Given the description of an element on the screen output the (x, y) to click on. 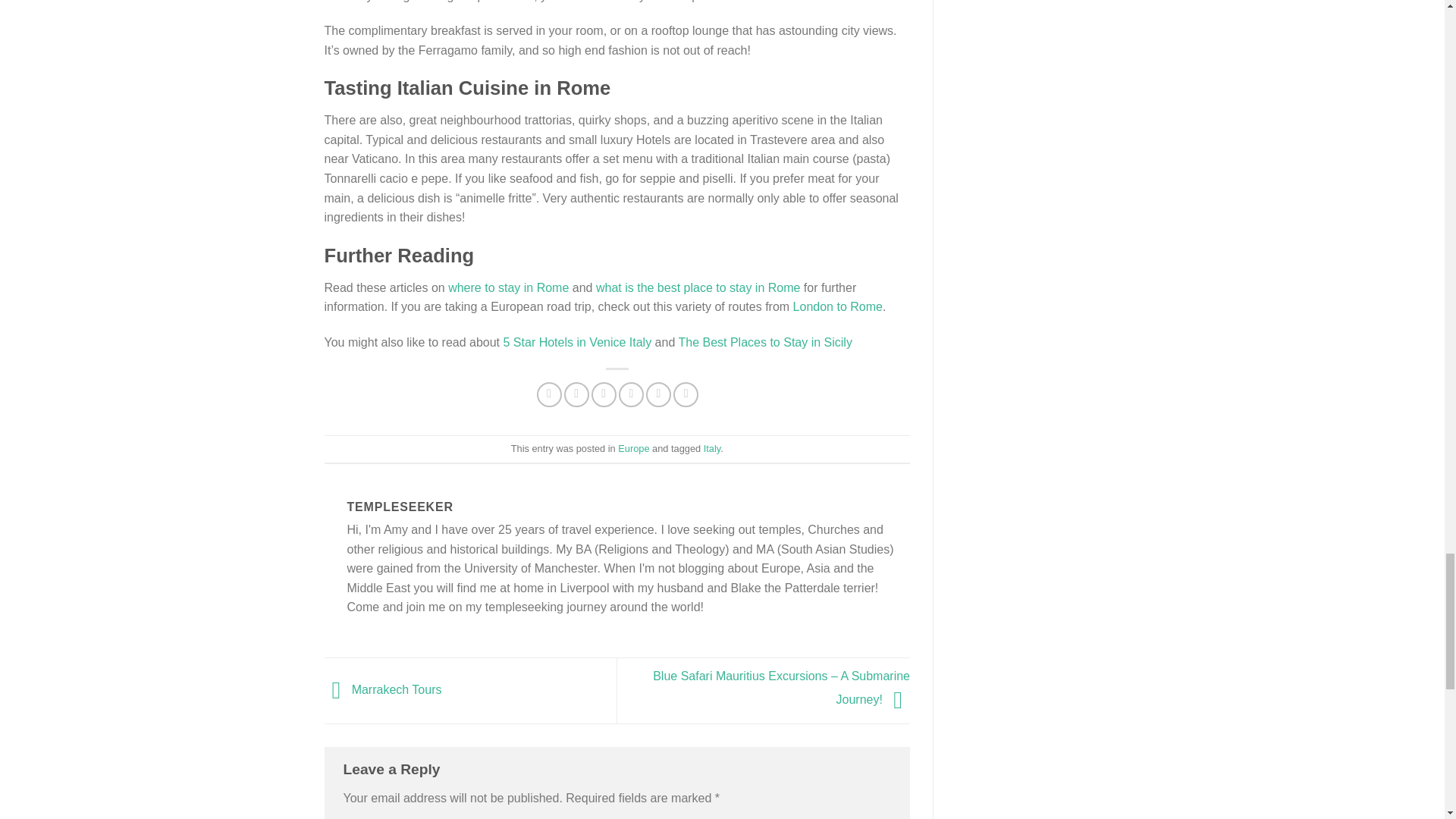
Share on LinkedIn (658, 394)
Share on Twitter (576, 394)
Pin on Pinterest (630, 394)
Share on Tumblr (685, 394)
Email to a Friend (603, 394)
Share on Facebook (549, 394)
